Given the description of an element on the screen output the (x, y) to click on. 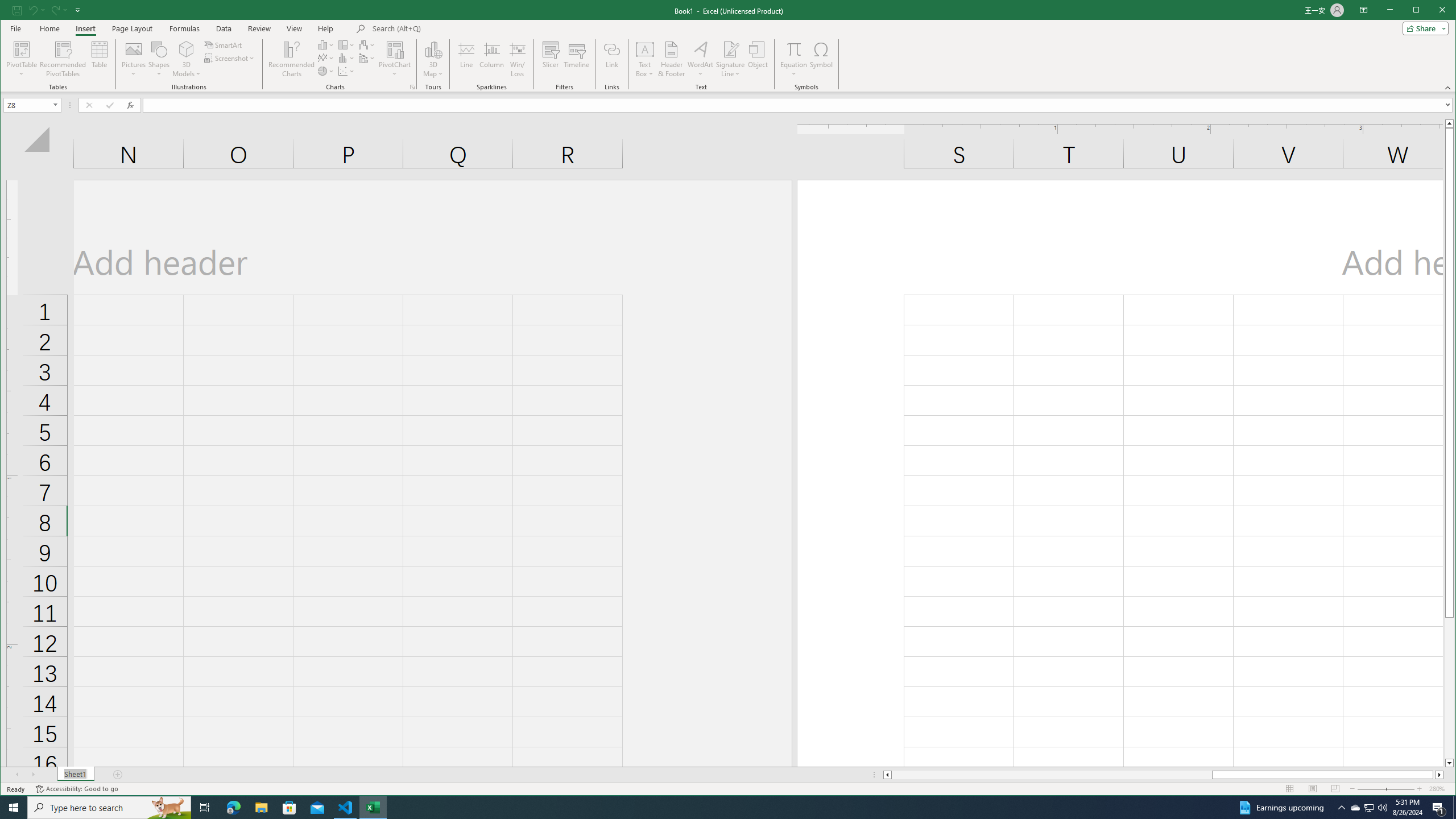
Start (13, 807)
Column (492, 59)
Object... (757, 59)
Insert Pie or Doughnut Chart (325, 70)
Type here to search (108, 807)
Win/Loss (517, 59)
Equation (793, 59)
